Given the description of an element on the screen output the (x, y) to click on. 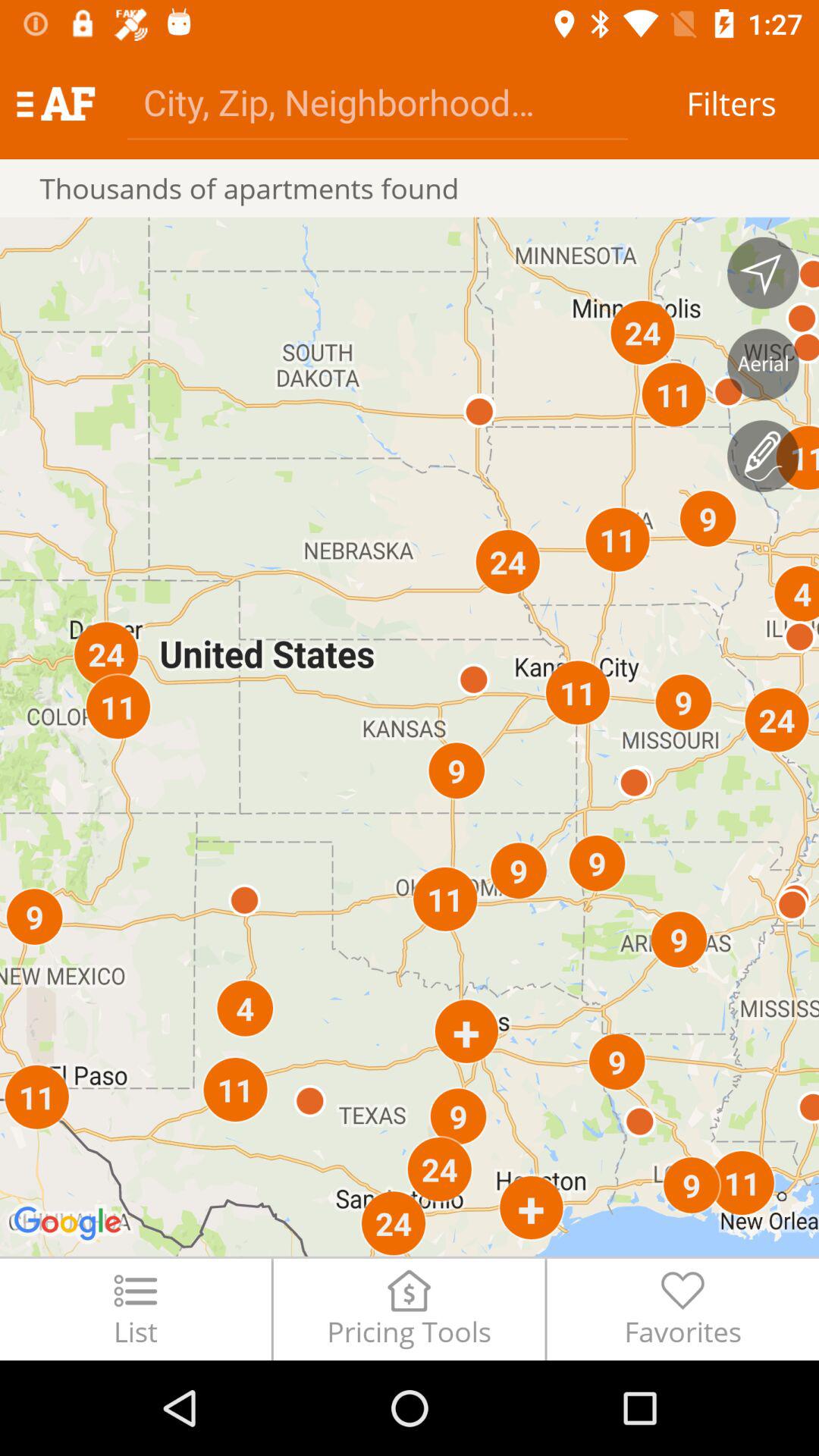
choose icon below the thousands of apartments (409, 736)
